Given the description of an element on the screen output the (x, y) to click on. 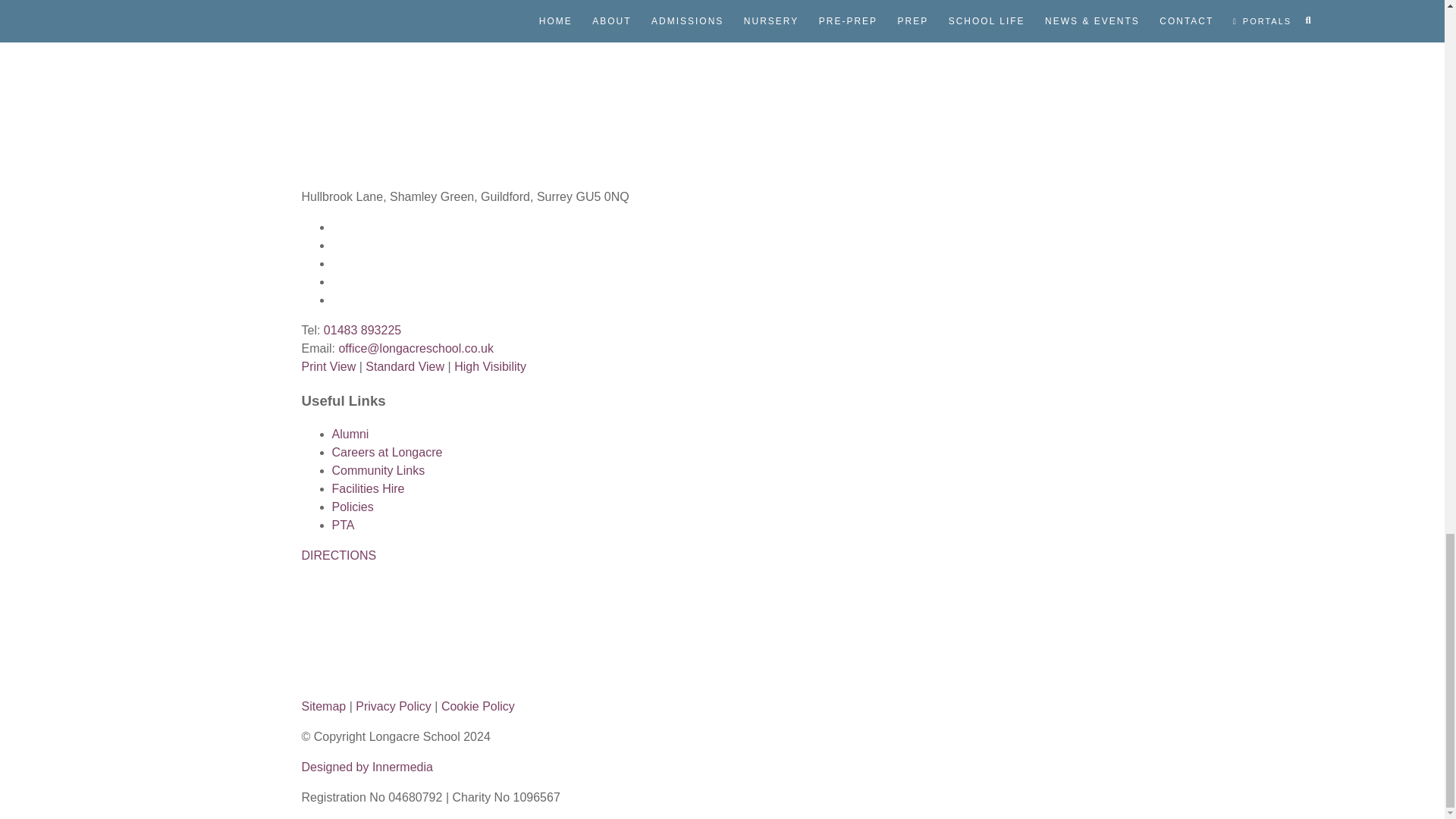
Switch to High Visibility (489, 366)
Switch to Standard Visibility (404, 366)
Switch to Print (328, 366)
